Given the description of an element on the screen output the (x, y) to click on. 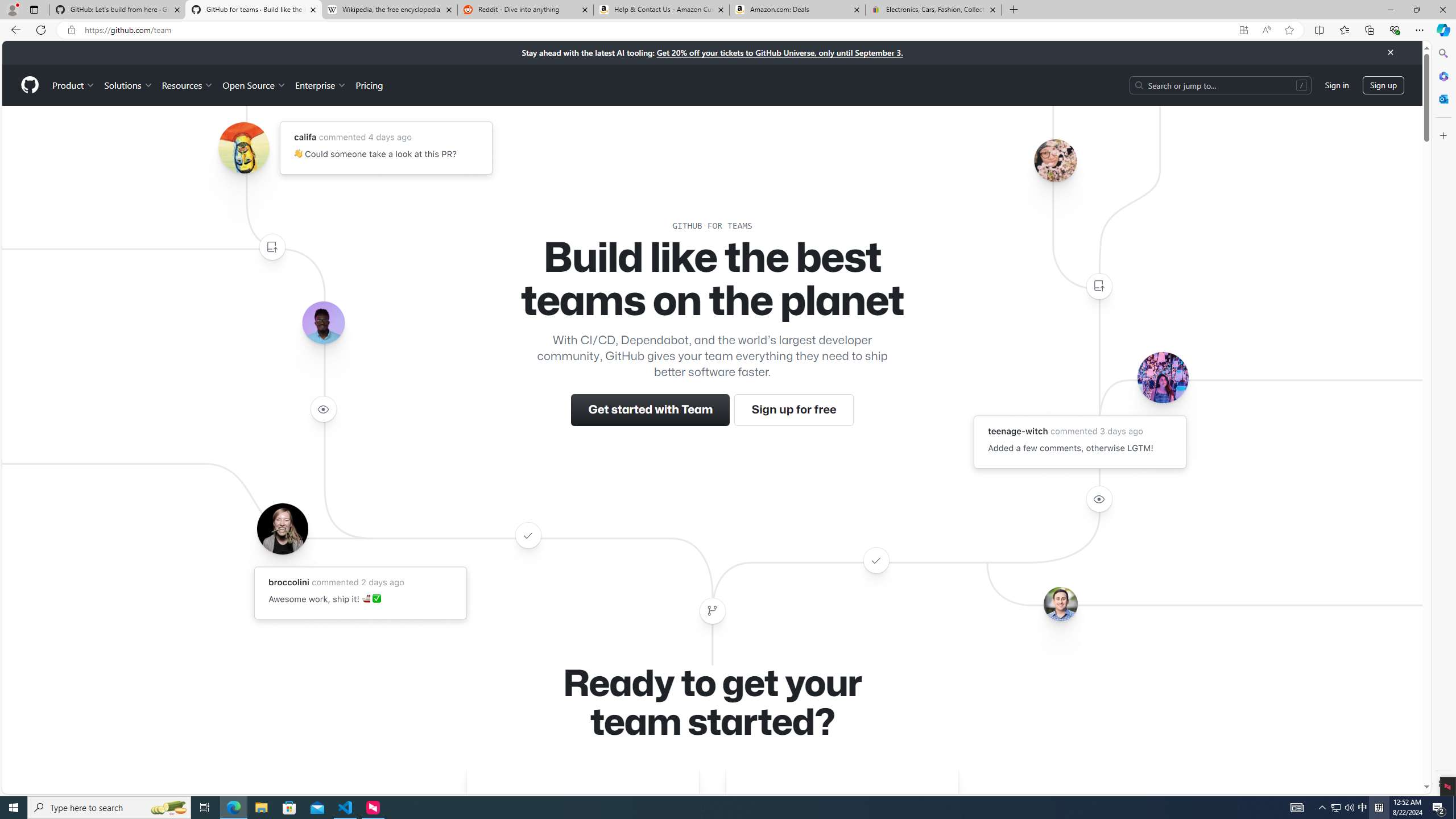
Open Source (254, 84)
